Given the description of an element on the screen output the (x, y) to click on. 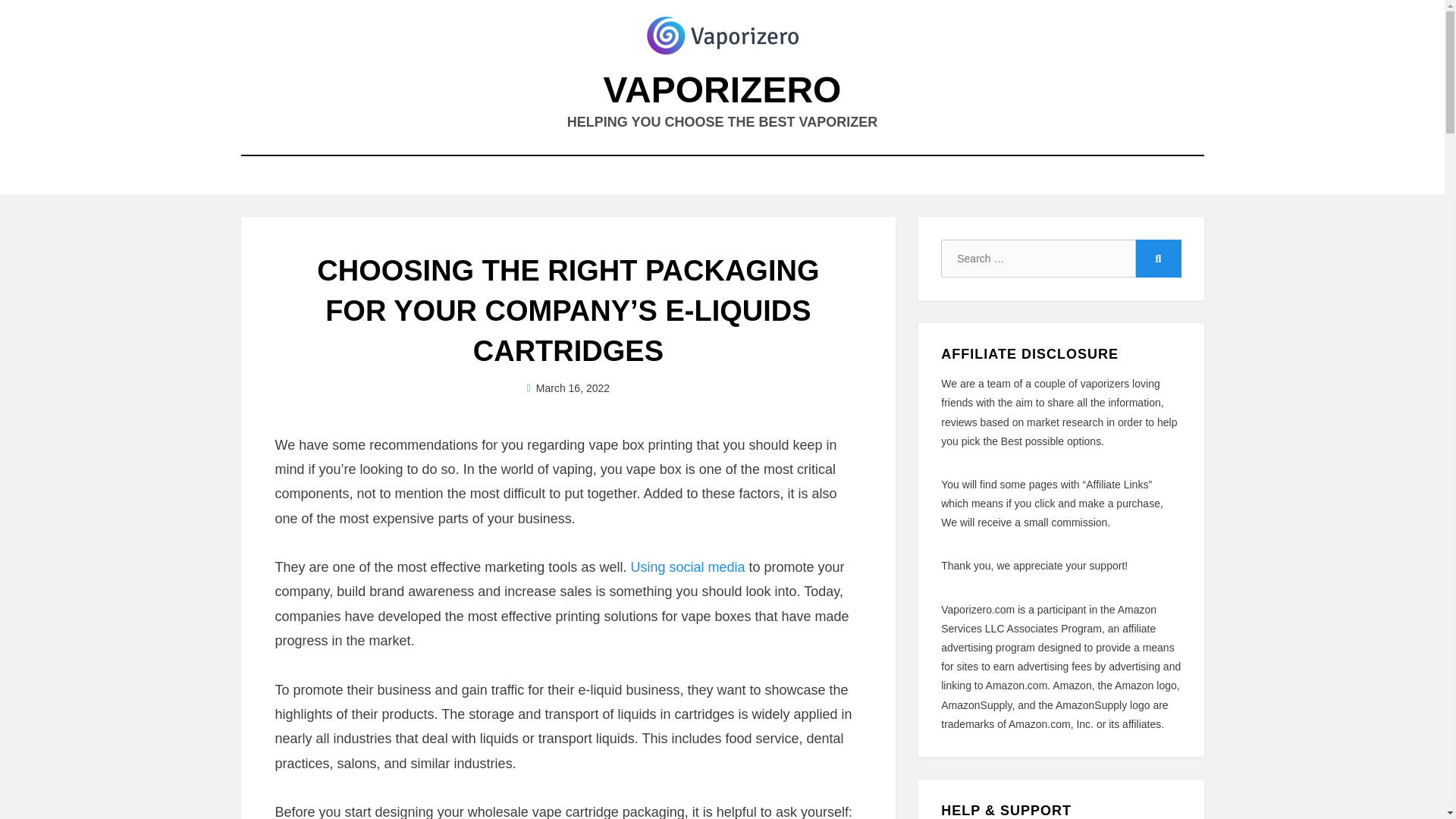
March 16, 2022 (568, 387)
Using social media (687, 566)
Kane Dane (576, 387)
VAPORIZERO (722, 89)
Vaporizero (722, 89)
Search for: (1037, 258)
